Given the description of an element on the screen output the (x, y) to click on. 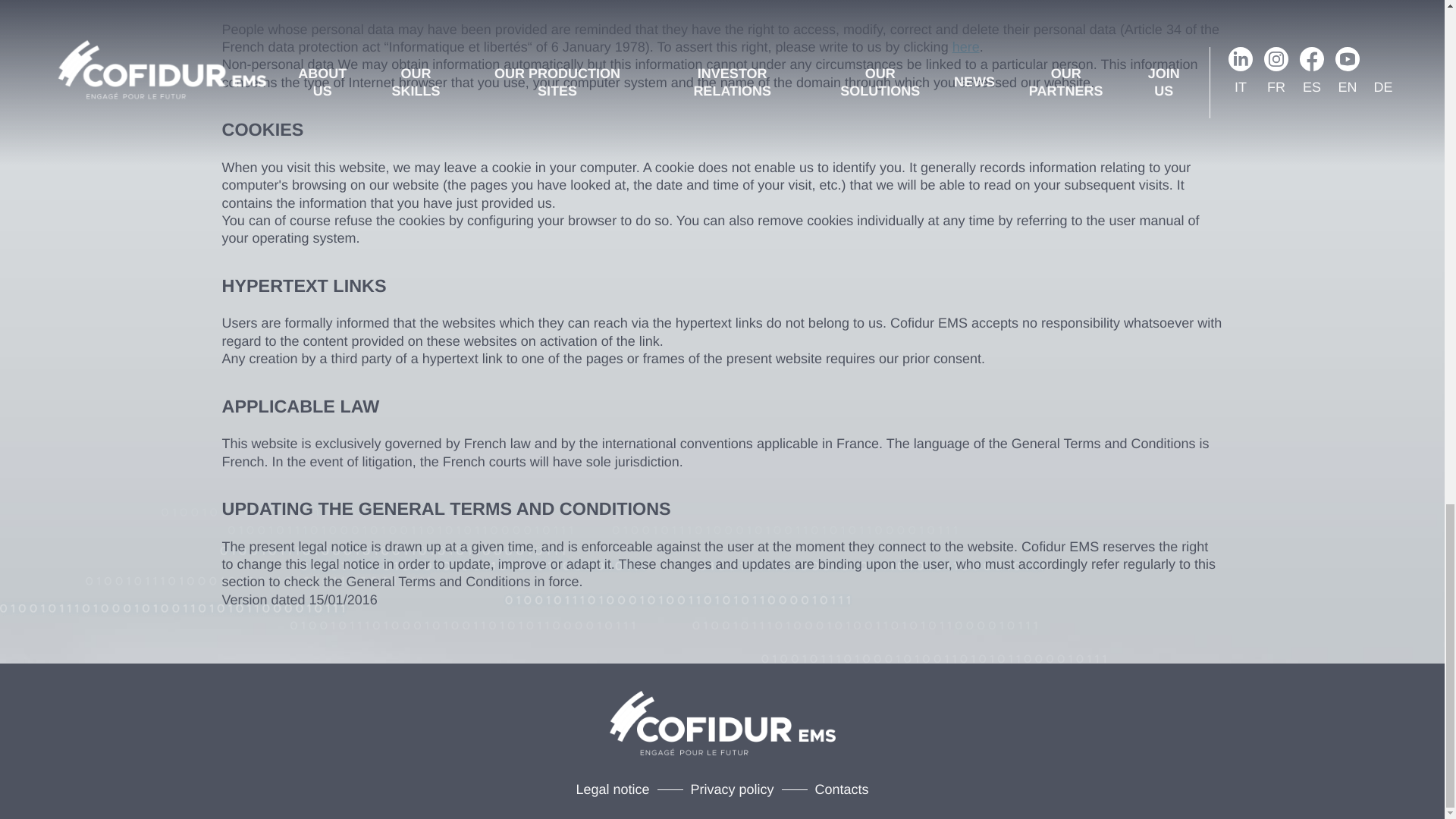
Privacy policy (731, 789)
Contacts (842, 789)
here (965, 46)
Legal notice (612, 789)
